Given the description of an element on the screen output the (x, y) to click on. 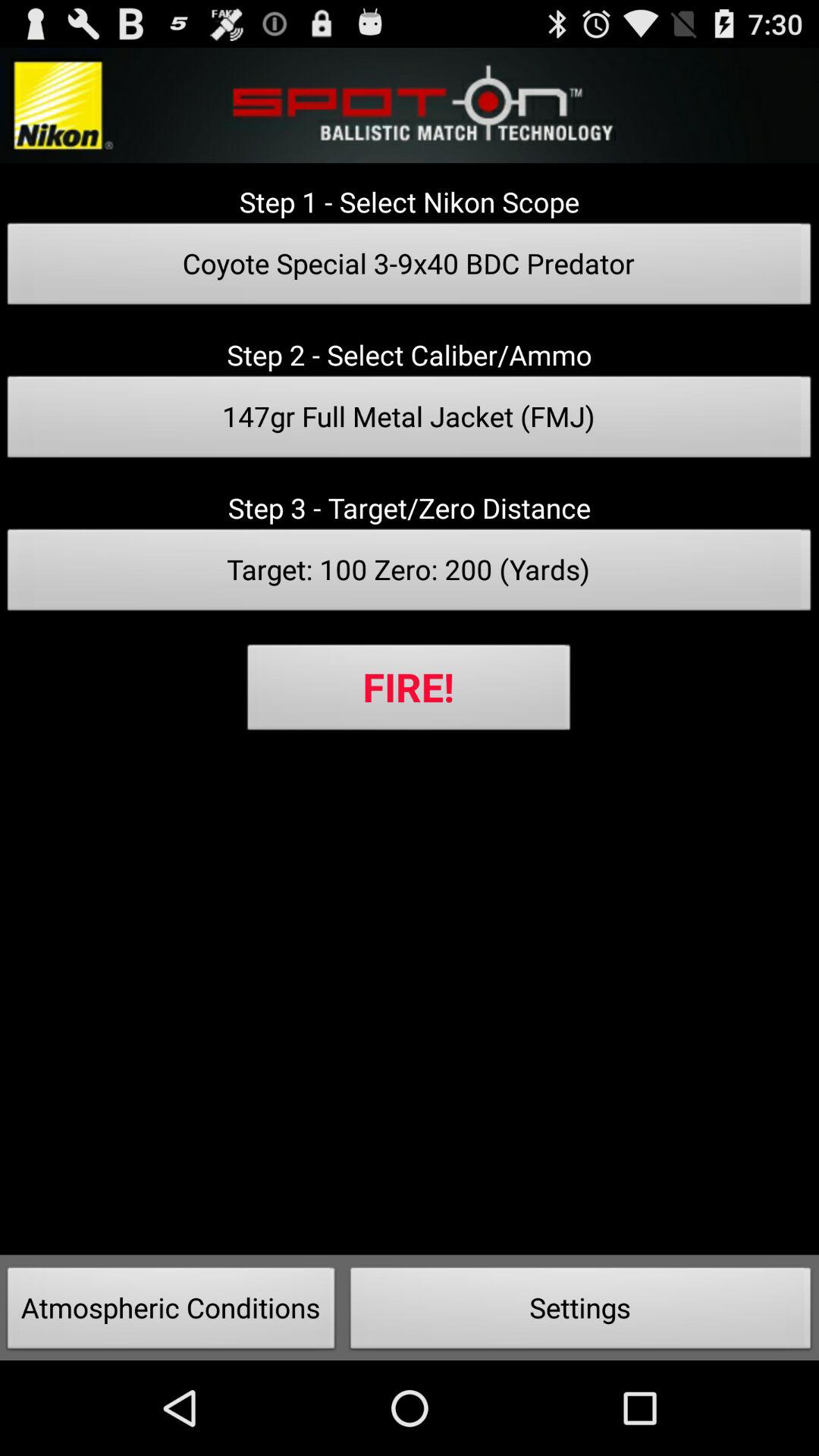
jump to fire! button (409, 691)
